Given the description of an element on the screen output the (x, y) to click on. 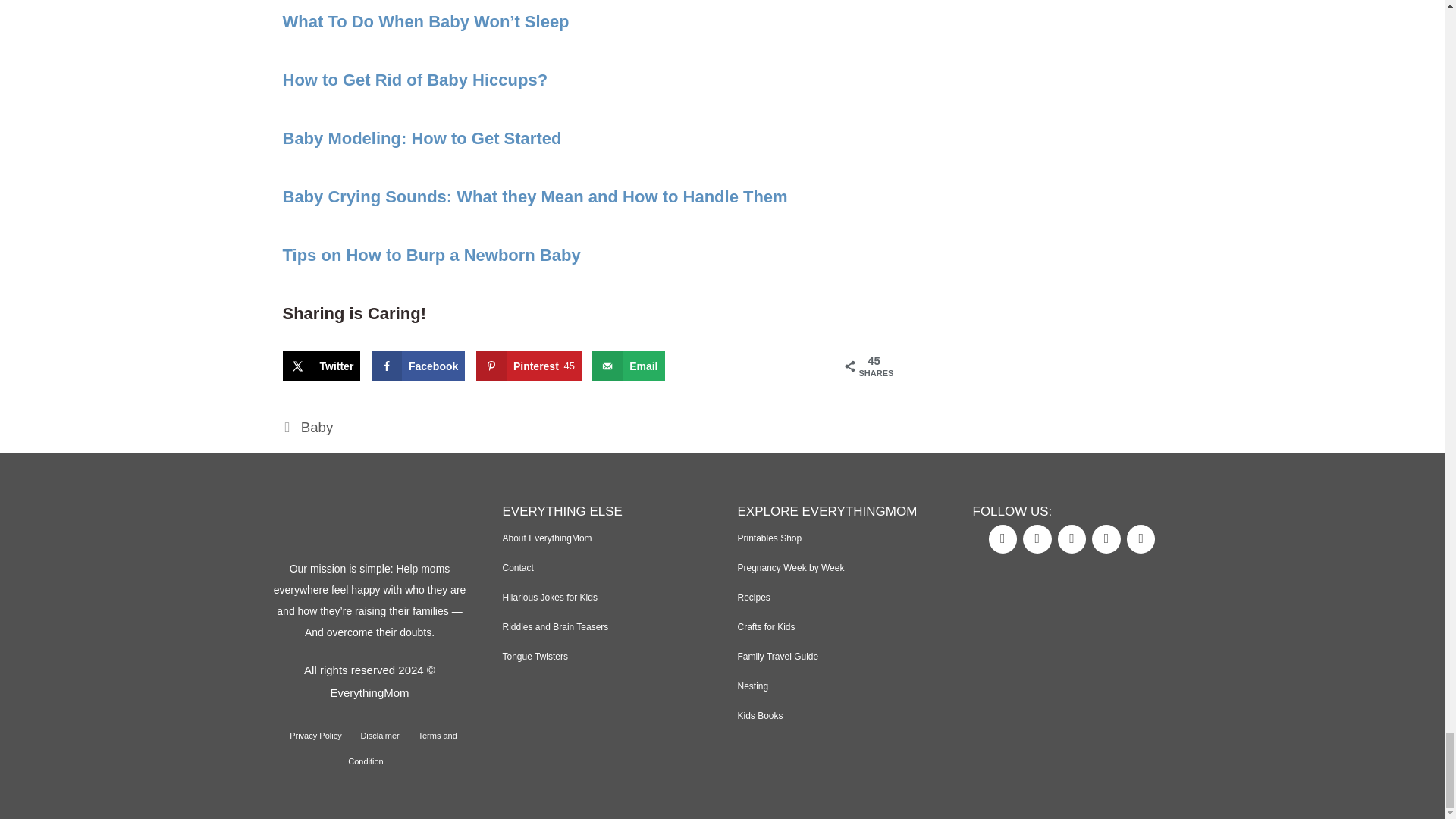
Save to Pinterest (528, 366)
Share on X (320, 366)
Pinterest (1106, 538)
Send over email (627, 366)
Twitter (1037, 538)
Share on Facebook (417, 366)
Facebook (1002, 538)
YouTube (1072, 538)
